Given the description of an element on the screen output the (x, y) to click on. 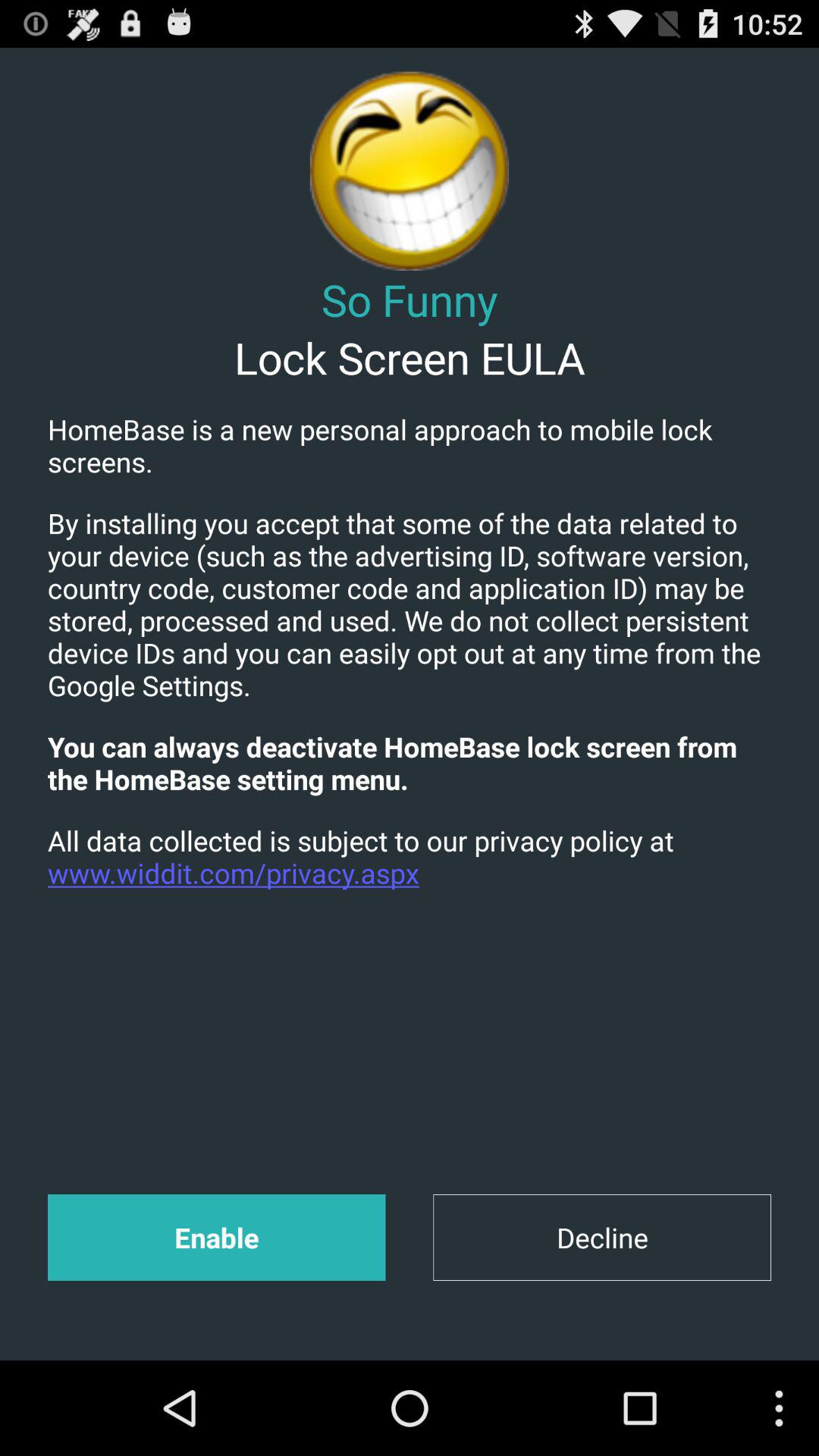
flip until you can always item (409, 762)
